Given the description of an element on the screen output the (x, y) to click on. 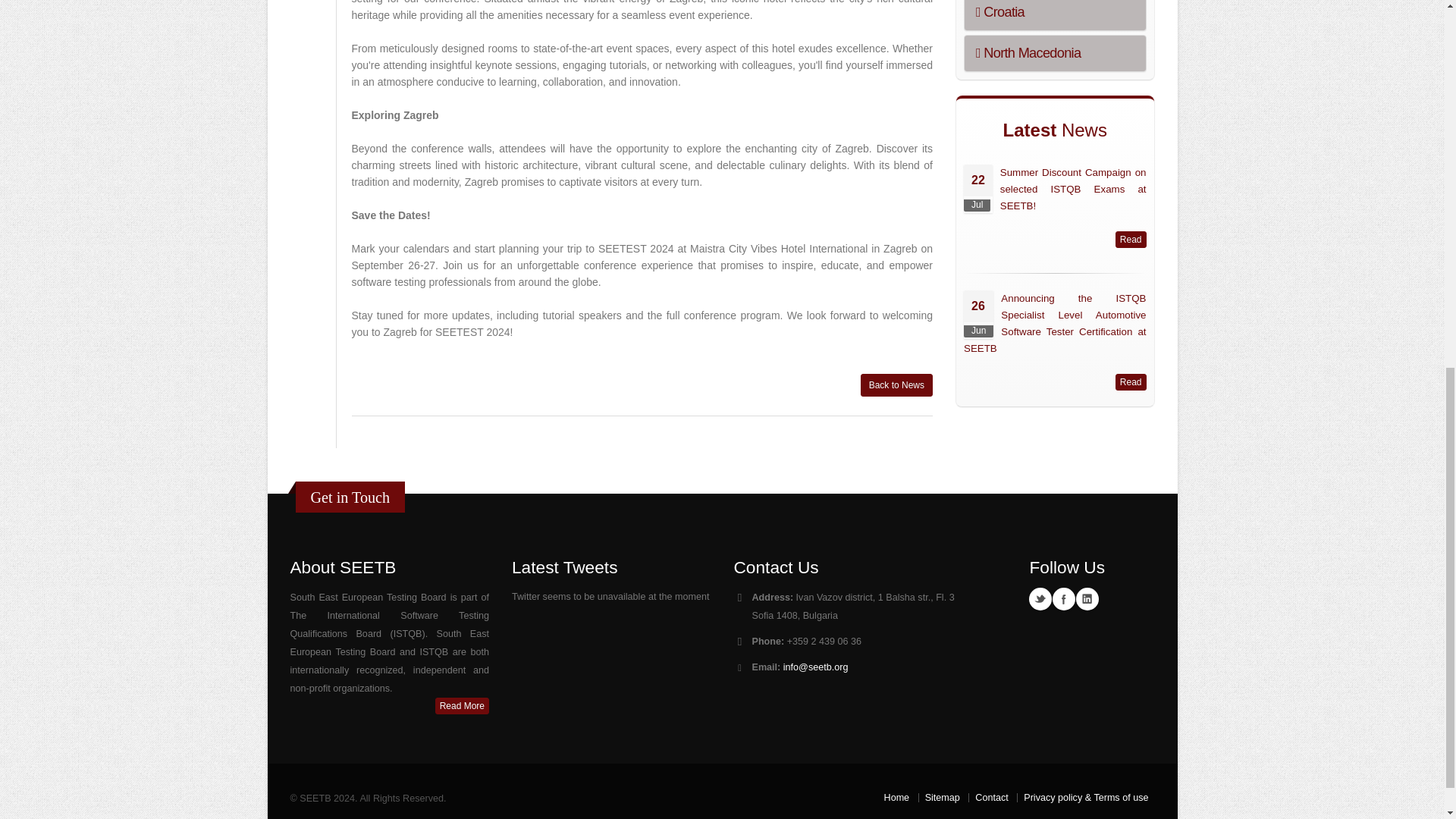
Facebook (1063, 599)
LinkedIn (1087, 599)
Twitter (1040, 599)
